Given the description of an element on the screen output the (x, y) to click on. 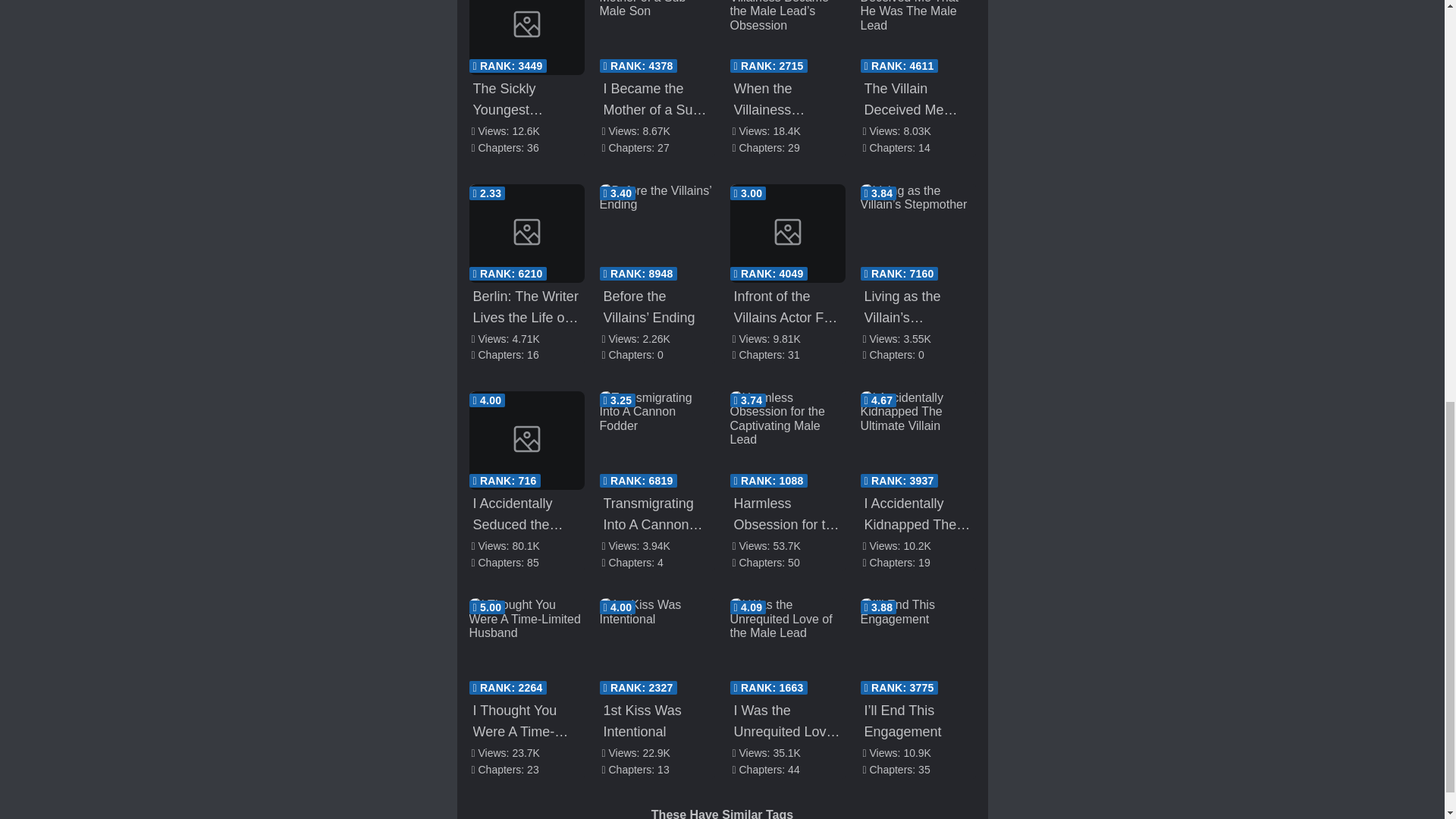
The Sickly Youngest Member of the Villainous Family (525, 37)
Berlin: The Writer Lives the Life of a Time-limited Villain (525, 233)
Infront of the Villains Actor Fall Ending (786, 233)
